Given the description of an element on the screen output the (x, y) to click on. 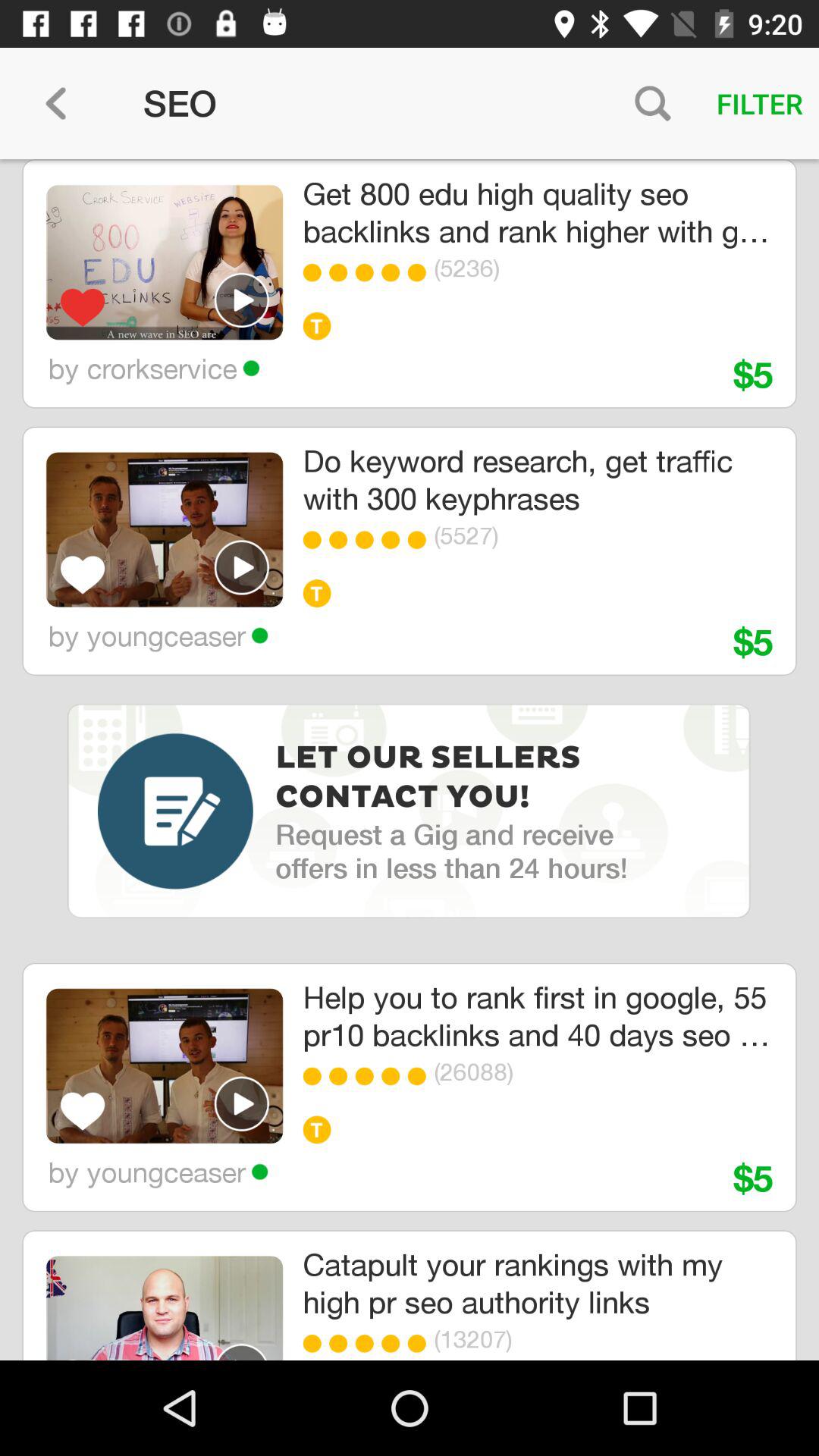
tap the icon below help you to (420, 1076)
